Given the description of an element on the screen output the (x, y) to click on. 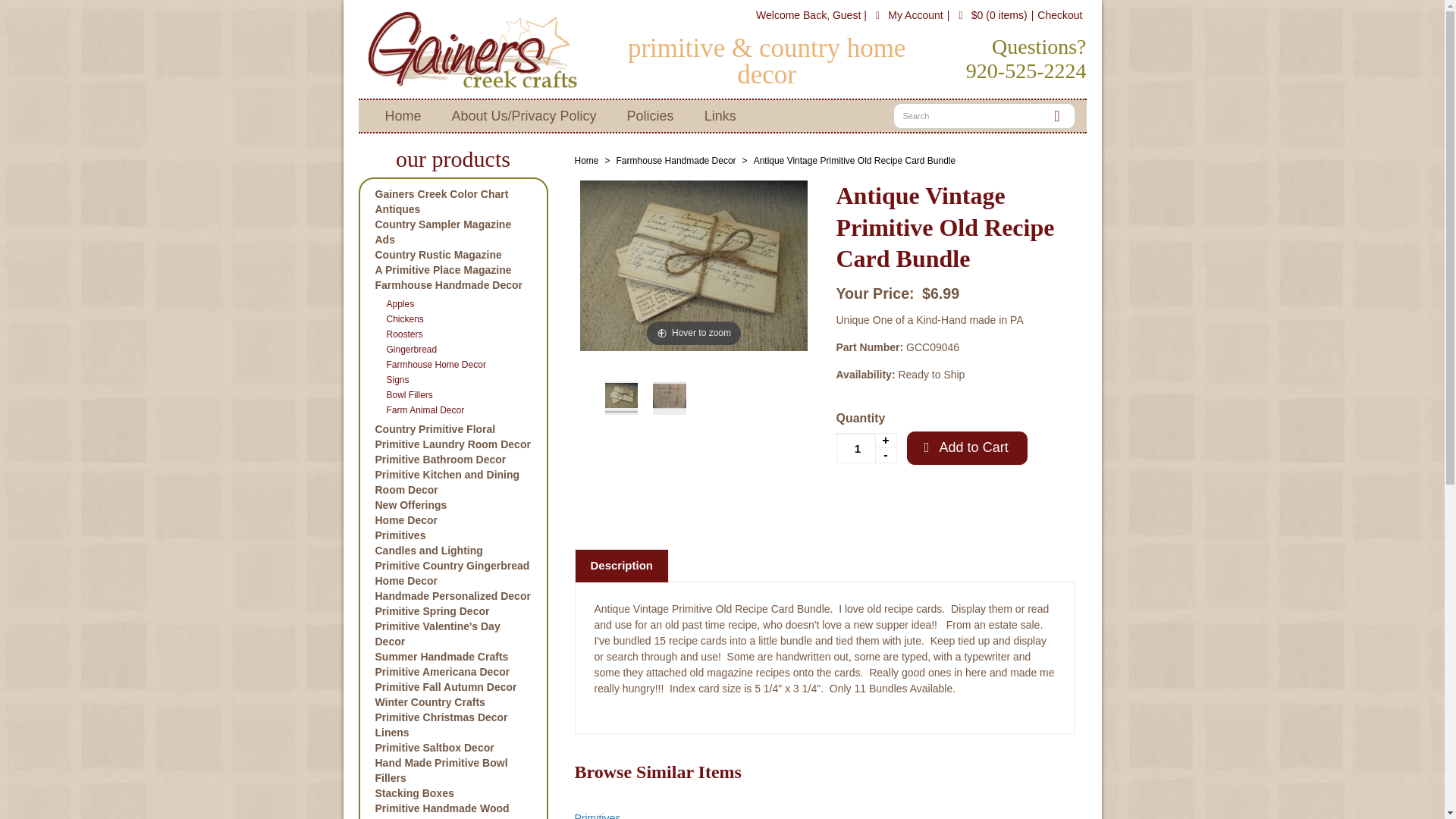
Primitive Kitchen and Dining Room Decor (452, 481)
Primitive Valentine's Day Decor (452, 634)
Country Sampler Magazine Ads (452, 232)
Farmhouse Home Decor (452, 363)
Roosters (452, 333)
Primitive Spring Decor (452, 611)
SEARCH (1057, 115)
Gainers Creek Crafts (471, 48)
Primitive Bathroom Decor (452, 459)
Home Decor (452, 519)
Bowl Fillers (452, 394)
Primitive Laundry Room Decor (452, 444)
Gainers Creek Color Chart (452, 193)
Links (719, 115)
